Given the description of an element on the screen output the (x, y) to click on. 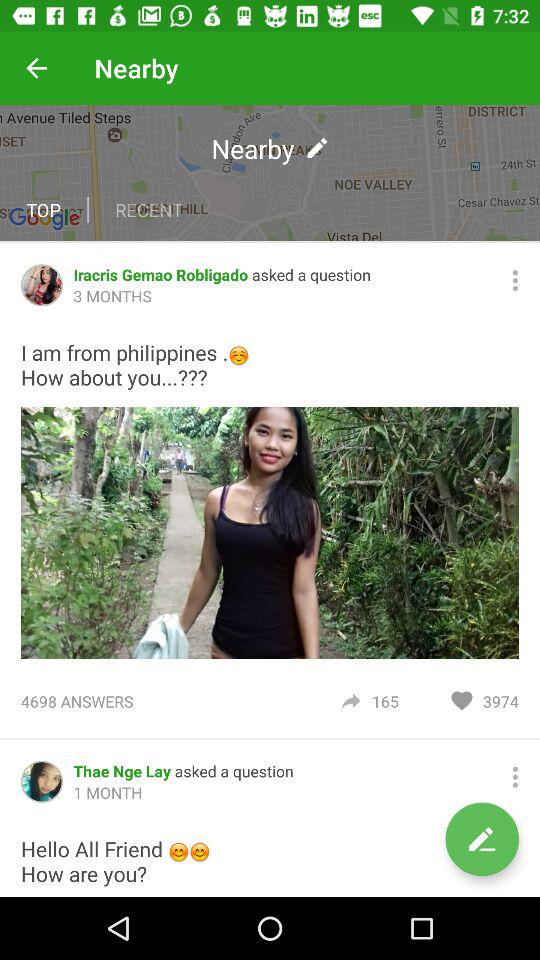
search options (515, 280)
